Given the description of an element on the screen output the (x, y) to click on. 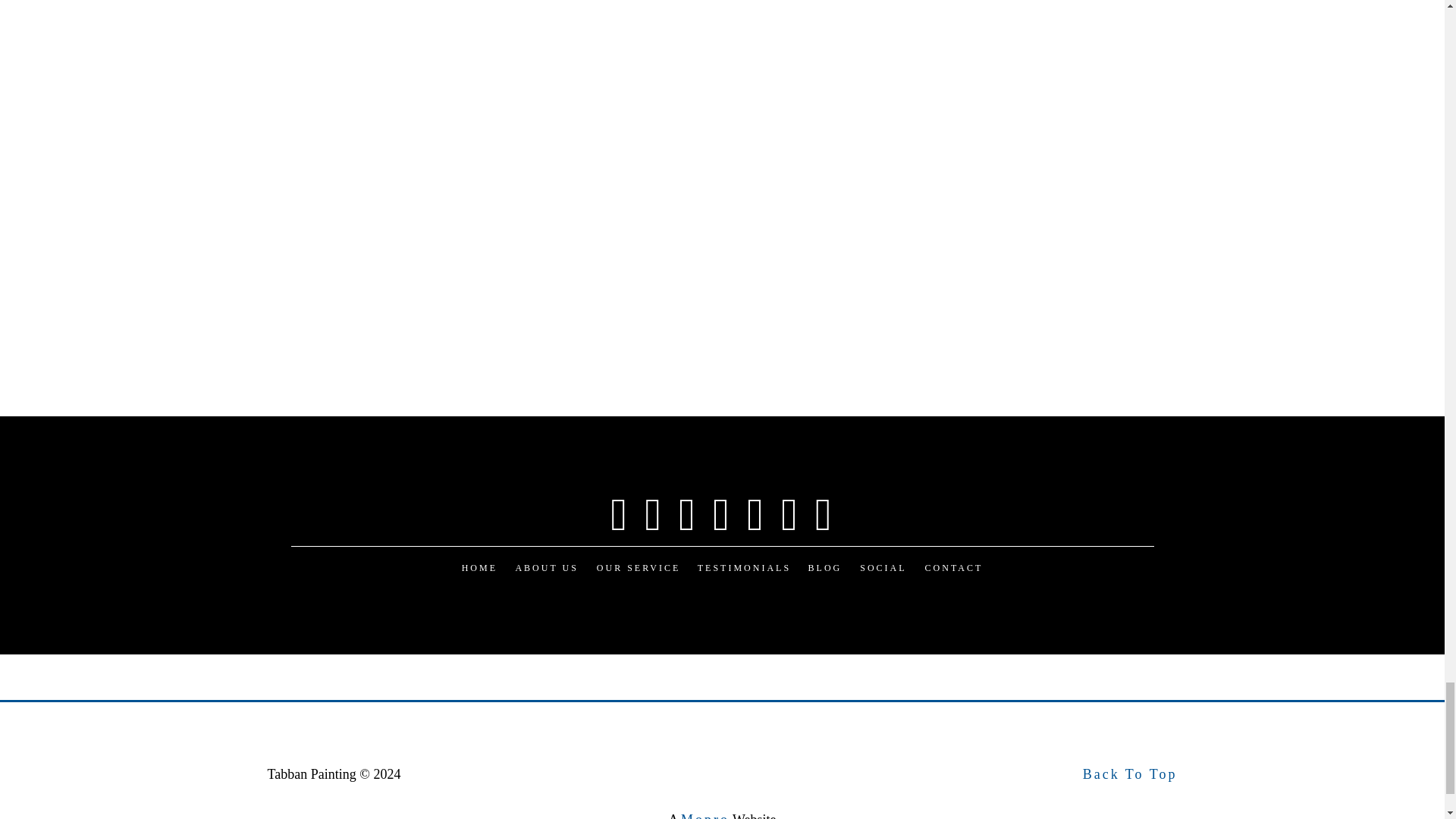
a mopro website (705, 815)
